Given the description of an element on the screen output the (x, y) to click on. 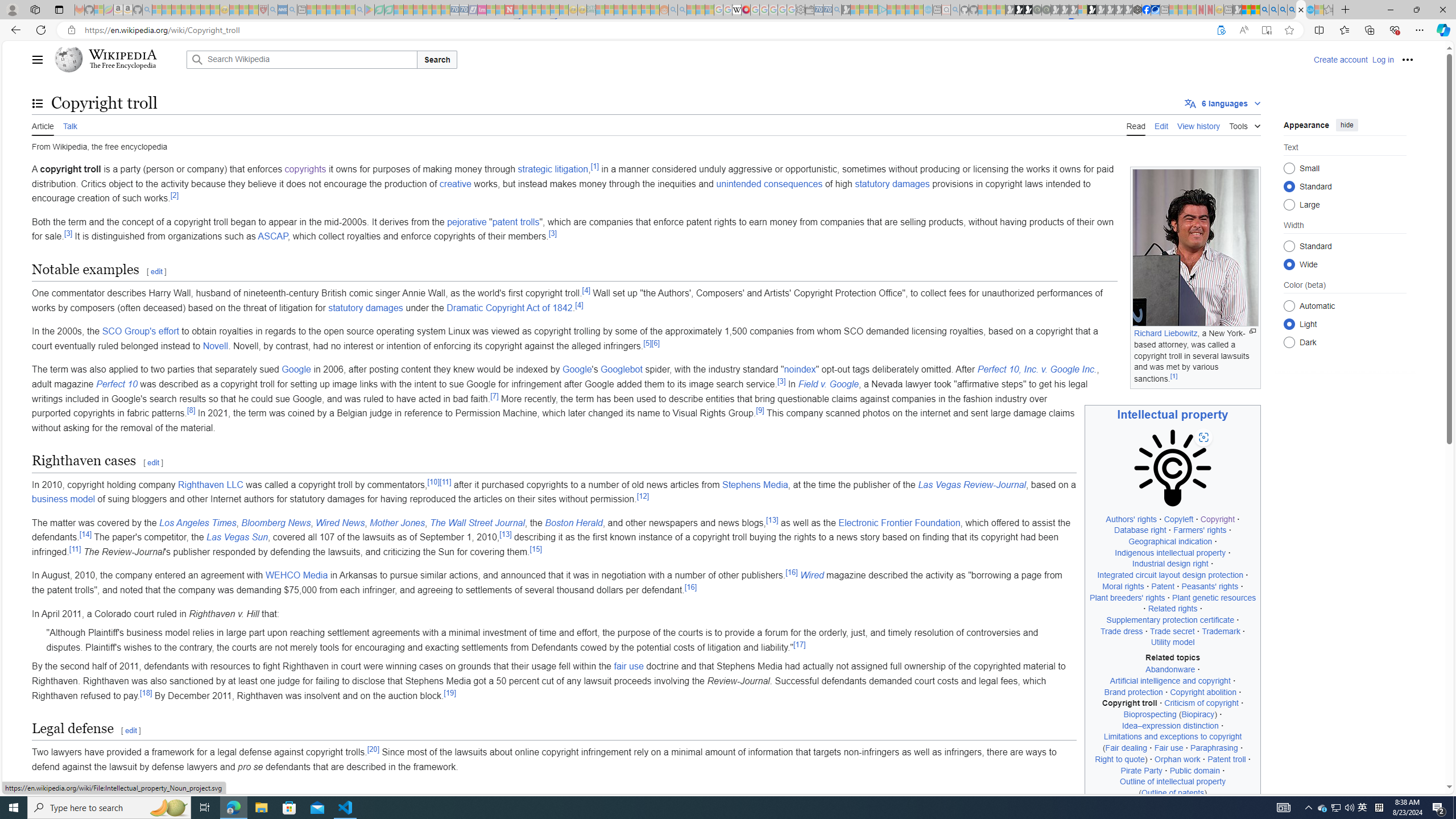
Plant breeders' rights (1126, 596)
Supplementary protection certificate (1170, 619)
Novell (215, 345)
business model (64, 498)
Outline of patents (1172, 792)
Sign in to your account - Sleeping (1082, 9)
[16] (690, 586)
Right to quote) (1120, 759)
